Given the description of an element on the screen output the (x, y) to click on. 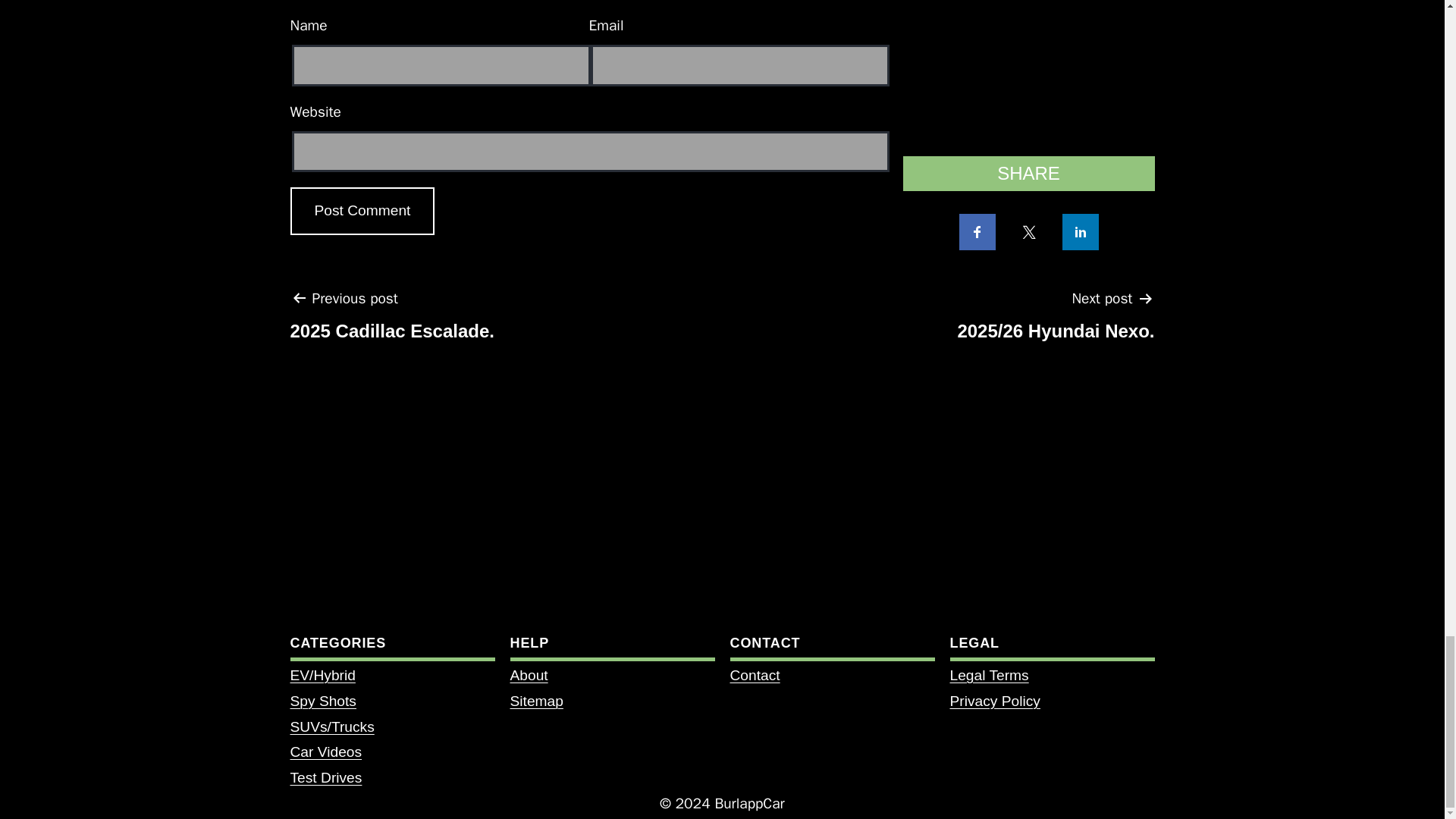
Car Videos (325, 751)
Post Comment (361, 211)
Privacy Policy (994, 700)
Post Comment (361, 211)
Spy Shots (322, 700)
Sitemap (535, 700)
Test Drives (325, 777)
About (528, 675)
Legal Terms (988, 675)
Contact (753, 675)
Spy Shots (322, 700)
Car Videos (392, 320)
